Given the description of an element on the screen output the (x, y) to click on. 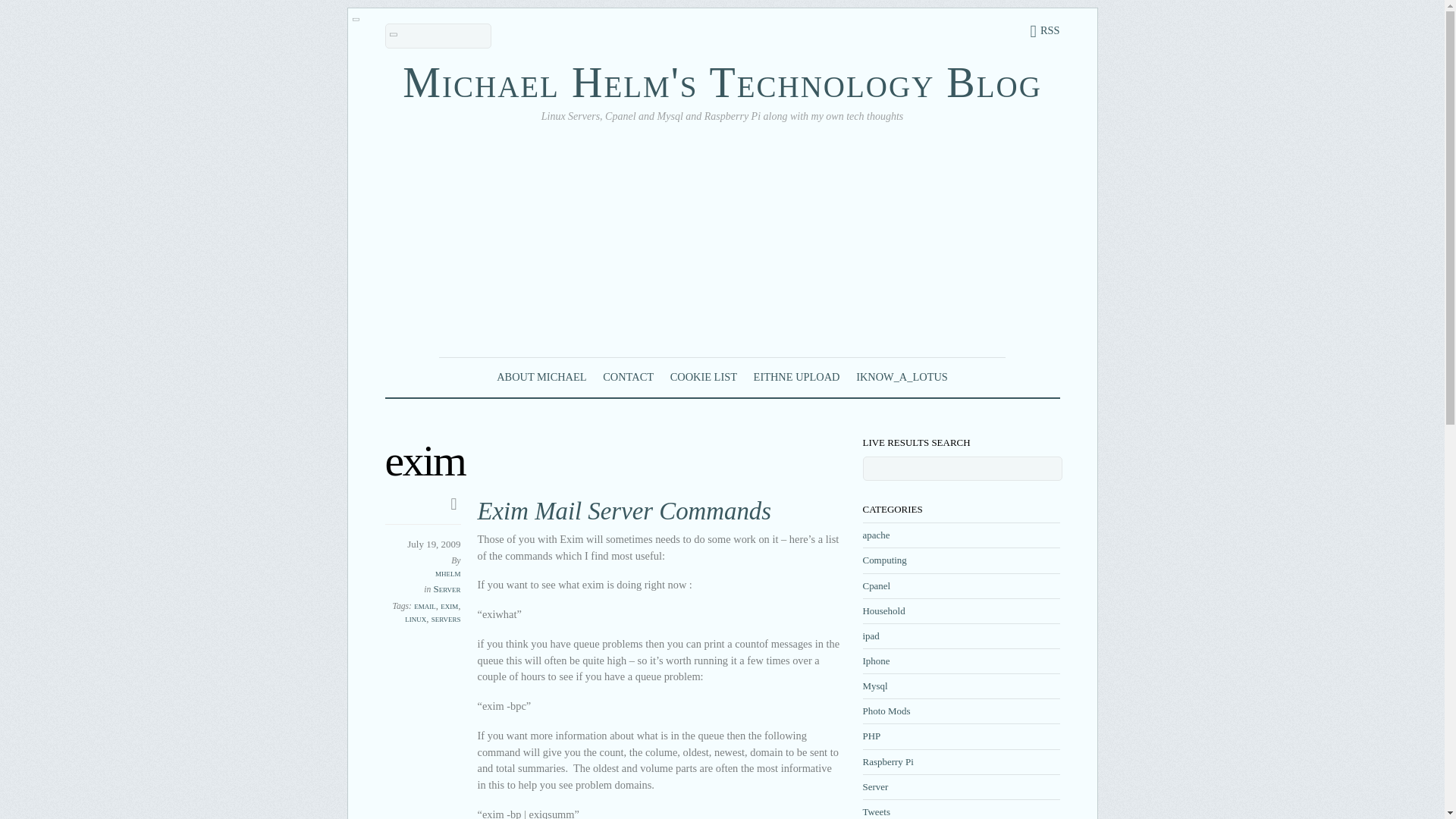
Search (962, 468)
Server (447, 588)
Household (884, 610)
email (424, 604)
Michael Helm's Technology Blog (722, 82)
Search (438, 35)
Computing (885, 559)
ABOUT MICHAEL (541, 376)
CONTACT (628, 376)
exim (449, 604)
Server (875, 786)
Iphone (876, 660)
EITHNE UPLOAD (796, 376)
RSS (1044, 30)
Mysql (875, 685)
